Given the description of an element on the screen output the (x, y) to click on. 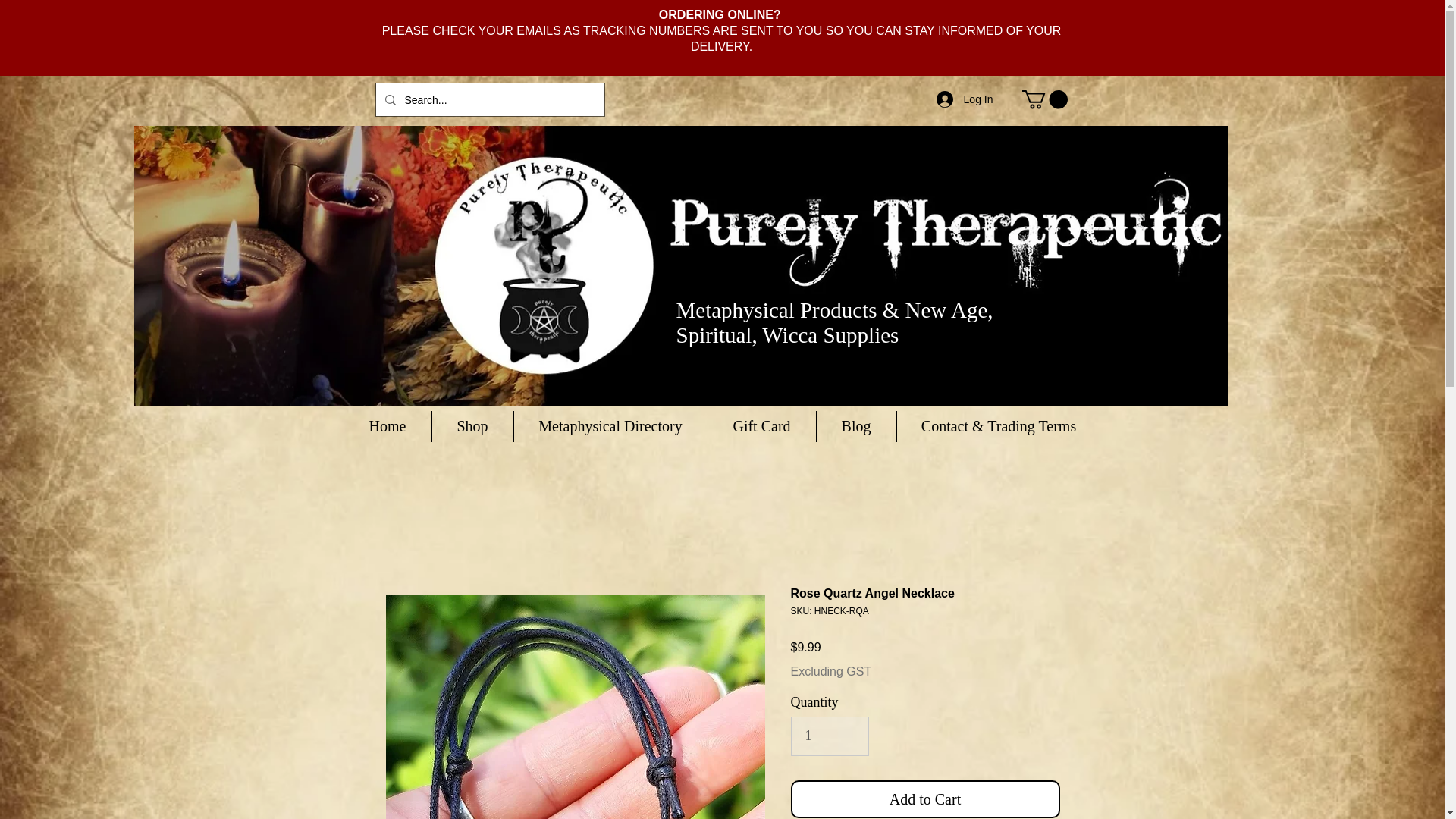
1 (829, 735)
Shop (472, 426)
Home (386, 426)
Log In (965, 99)
Metaphysical Directory (610, 426)
